Given the description of an element on the screen output the (x, y) to click on. 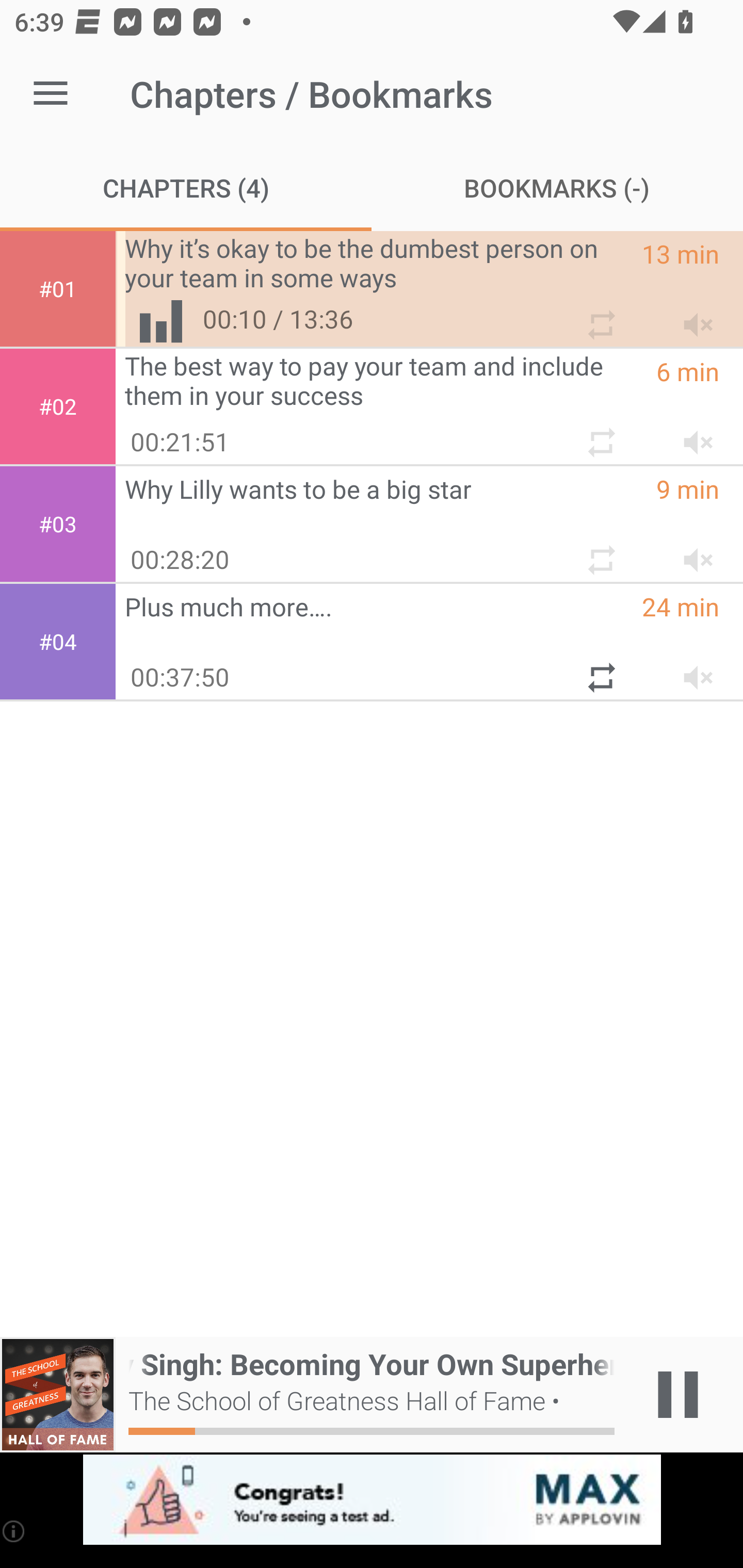
Open navigation sidebar (50, 93)
Bookmarks (-) BOOKMARKS (-) (557, 187)
Repeat chapter (599, 317)
Mute chapter (692, 317)
Repeat chapter (599, 435)
Mute chapter (692, 435)
Repeat chapter (599, 552)
Mute chapter (692, 552)
Repeat chapter (599, 670)
Mute chapter (692, 670)
Play / Pause (677, 1394)
app-monetization (371, 1500)
(i) (14, 1531)
